Given the description of an element on the screen output the (x, y) to click on. 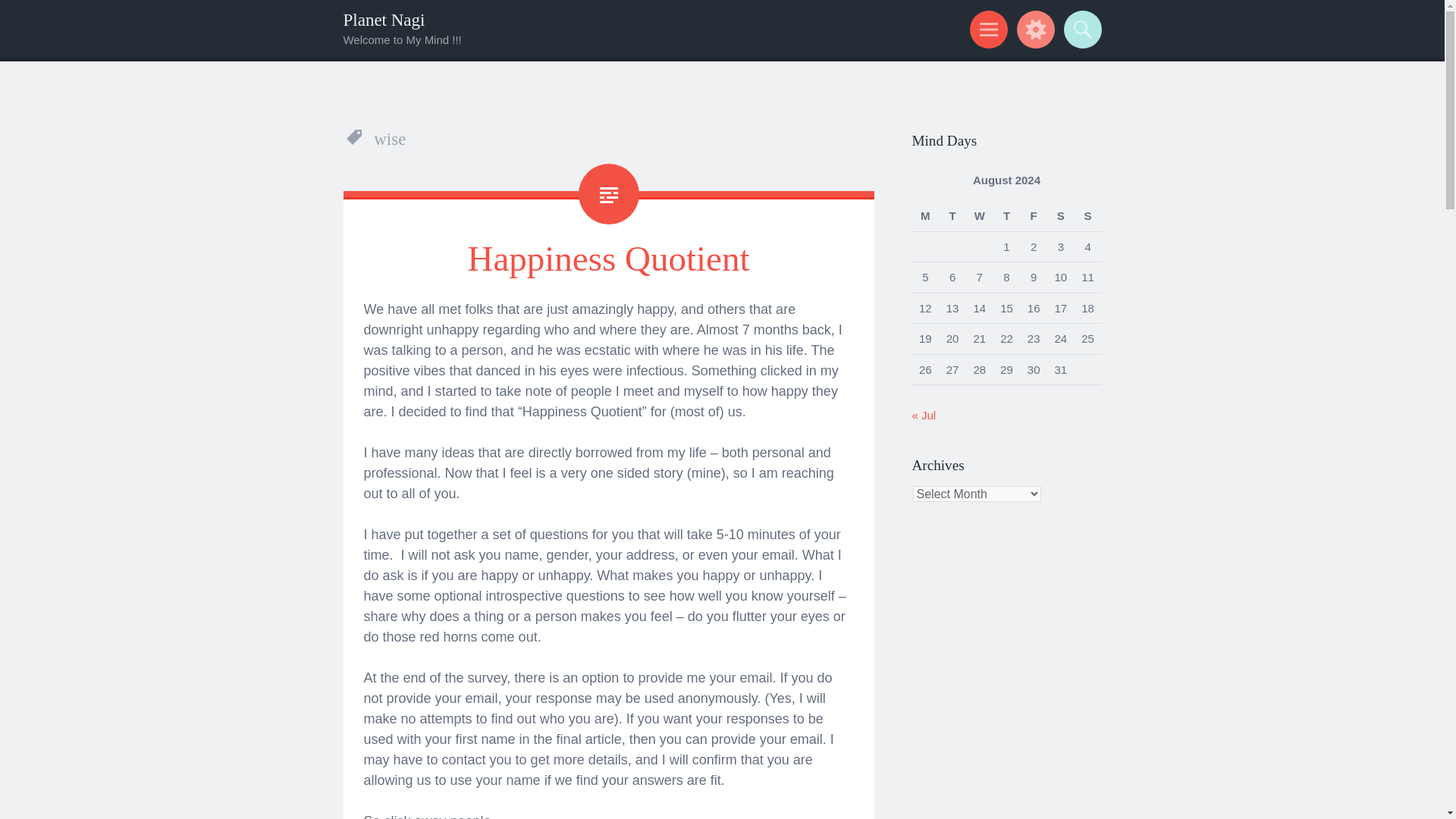
Monday (925, 215)
Widgets (1032, 29)
Planet Nagi (383, 19)
Search (1080, 29)
Menu (985, 29)
